Given the description of an element on the screen output the (x, y) to click on. 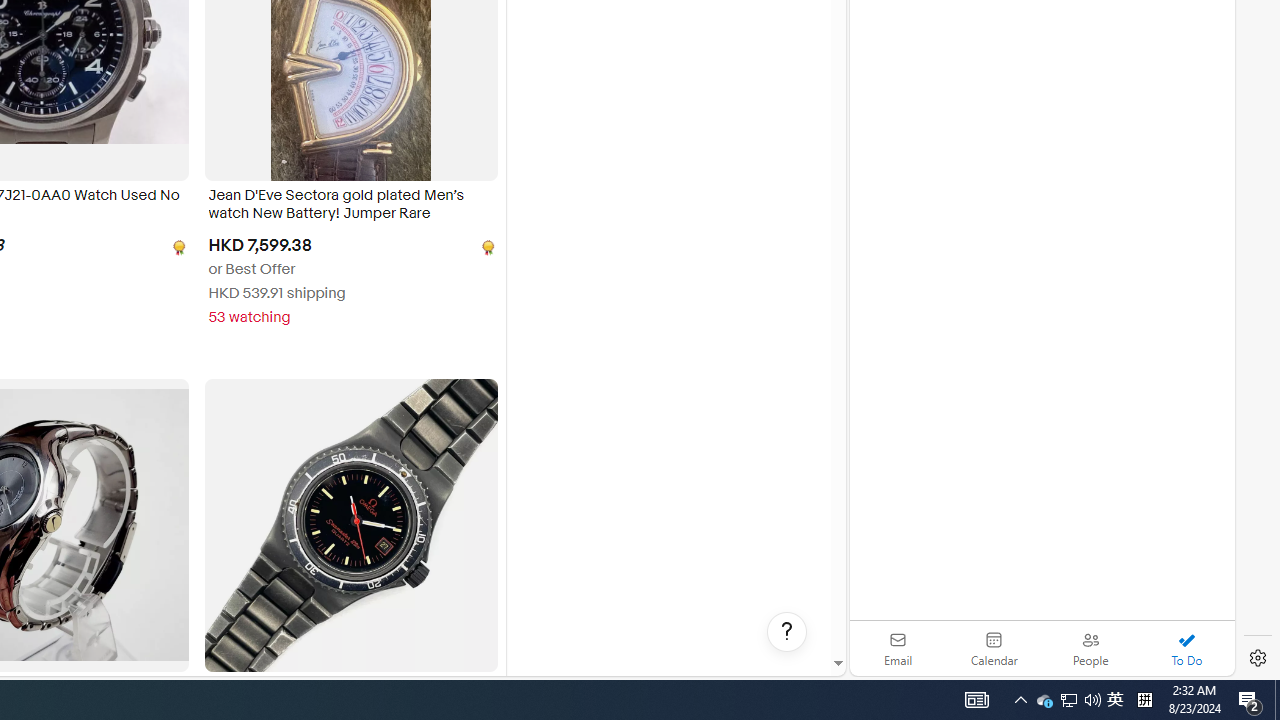
[object Undefined] (486, 246)
Help, opens dialogs (787, 632)
Calendar. Date today is 22 (994, 648)
Email (898, 648)
To Do (1186, 648)
People (1090, 648)
